Given the description of an element on the screen output the (x, y) to click on. 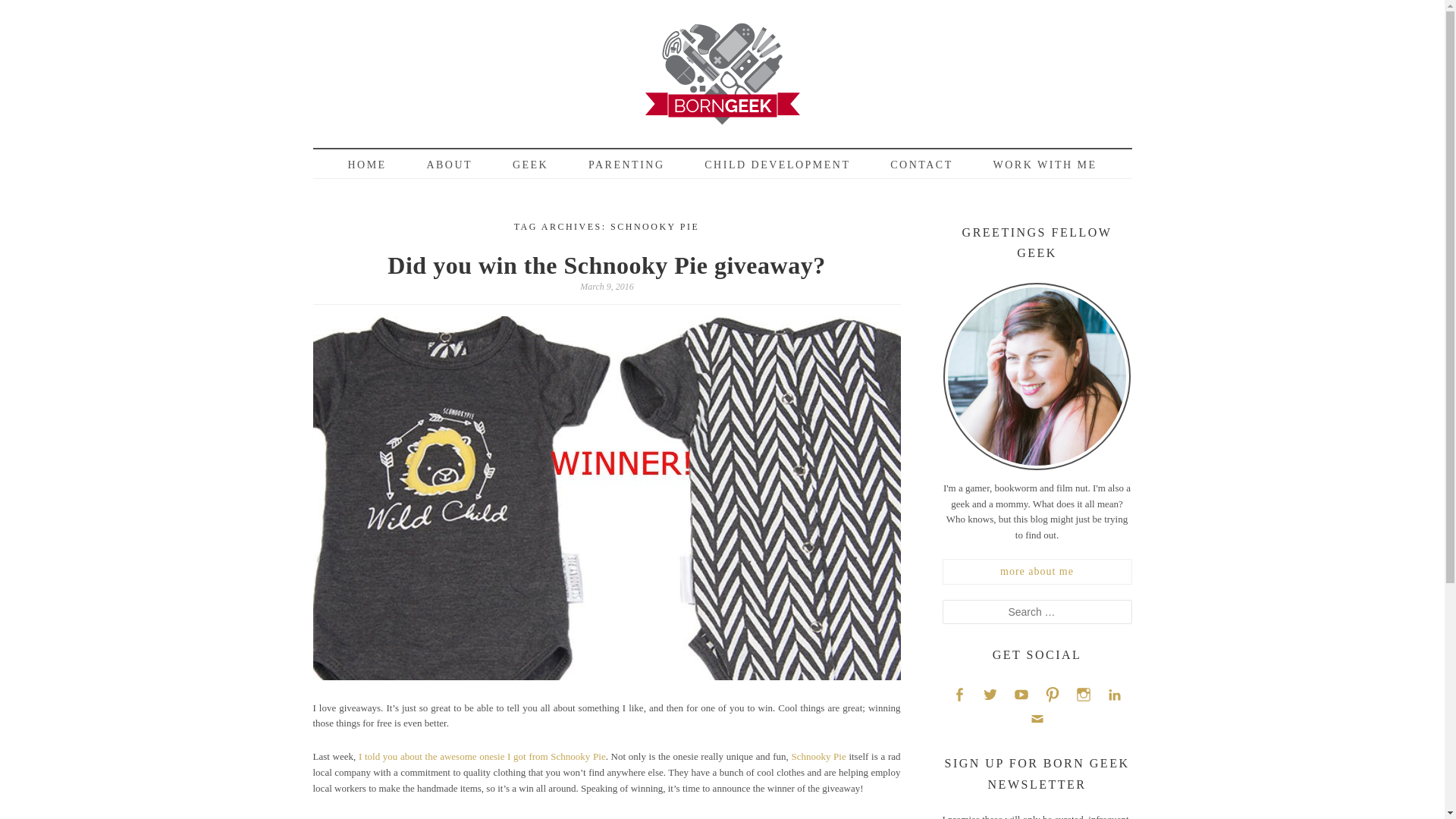
I told you about the awesome onesie I got from Schnooky Pie (481, 756)
YouTube (1021, 693)
Email (1036, 718)
YouTube (1021, 693)
CHILD DEVELOPMENT (777, 164)
PARENTING (626, 164)
Pinterest (1052, 693)
Instagram (1082, 693)
Email (1036, 718)
March 9, 2016 (606, 286)
